Given the description of an element on the screen output the (x, y) to click on. 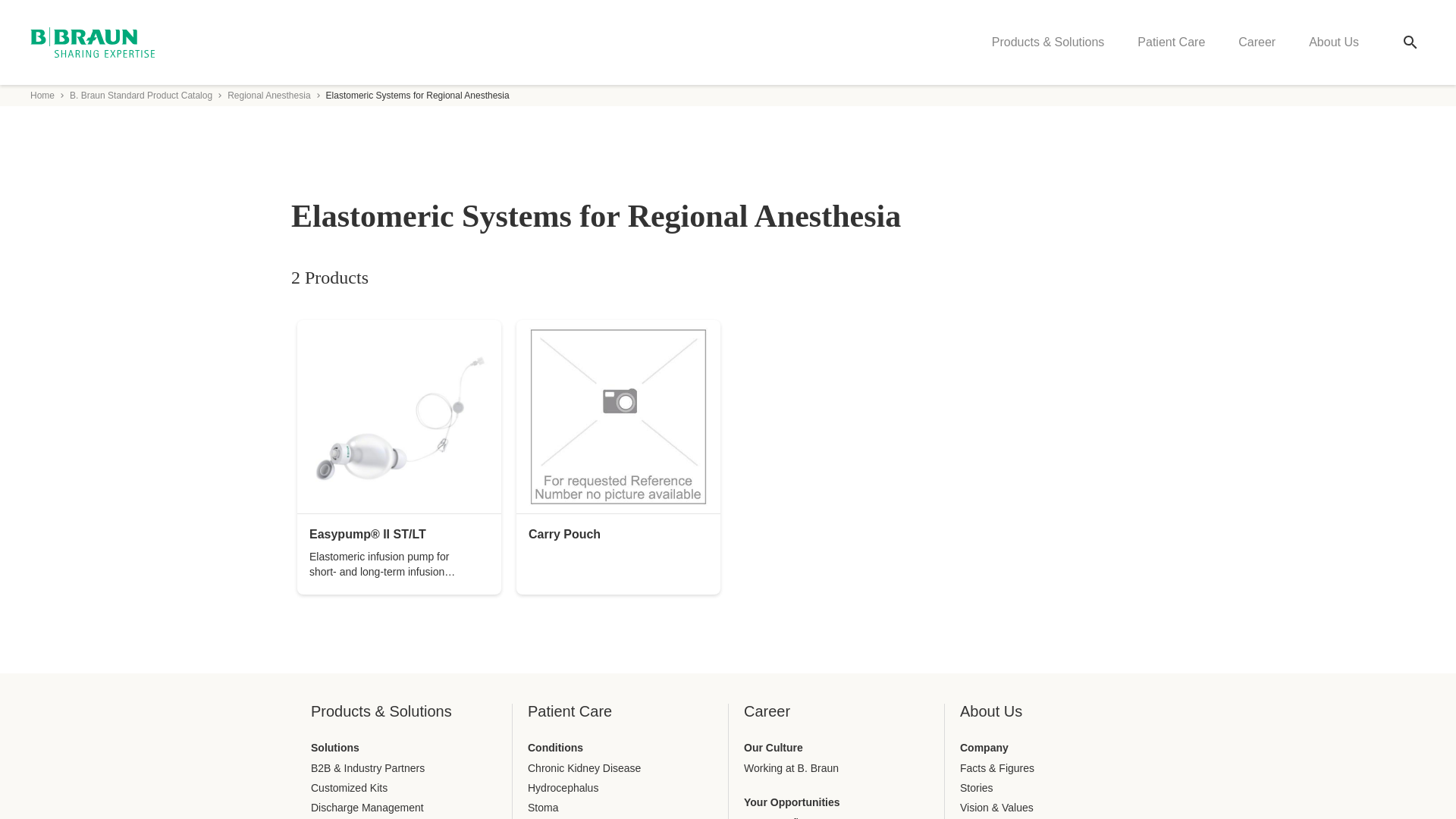
B.Braun Logo (92, 42)
Patient Care (1171, 42)
